Given the description of an element on the screen output the (x, y) to click on. 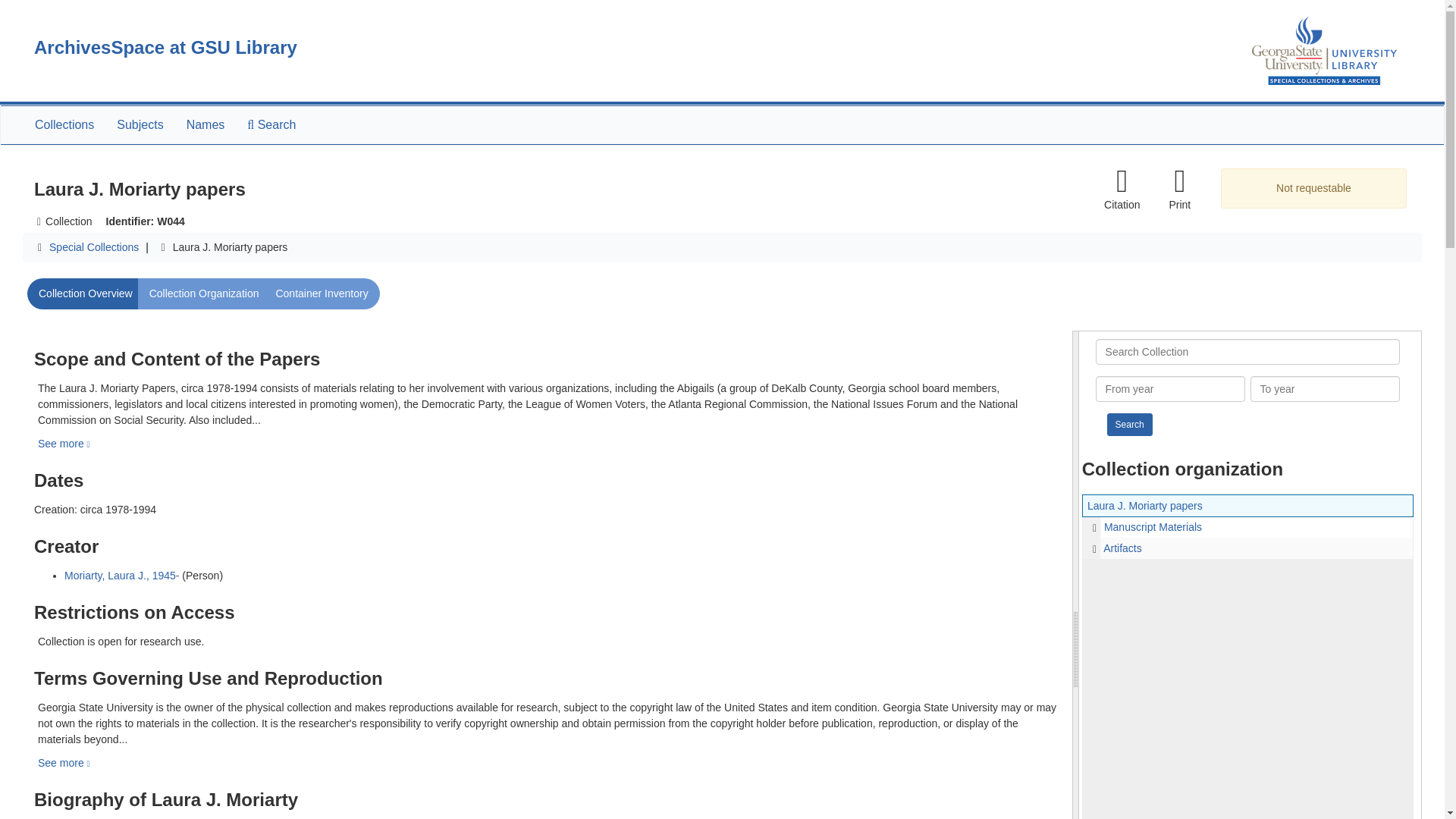
Collection Overview (85, 293)
Collection Organization (204, 293)
Moriarty, Laura J., 1945- (121, 575)
Citation (1121, 188)
Special Collections (93, 246)
Names (204, 125)
Page Actions (1130, 188)
Artifacts (1247, 547)
Container Inventory (320, 293)
See more (63, 762)
